Given the description of an element on the screen output the (x, y) to click on. 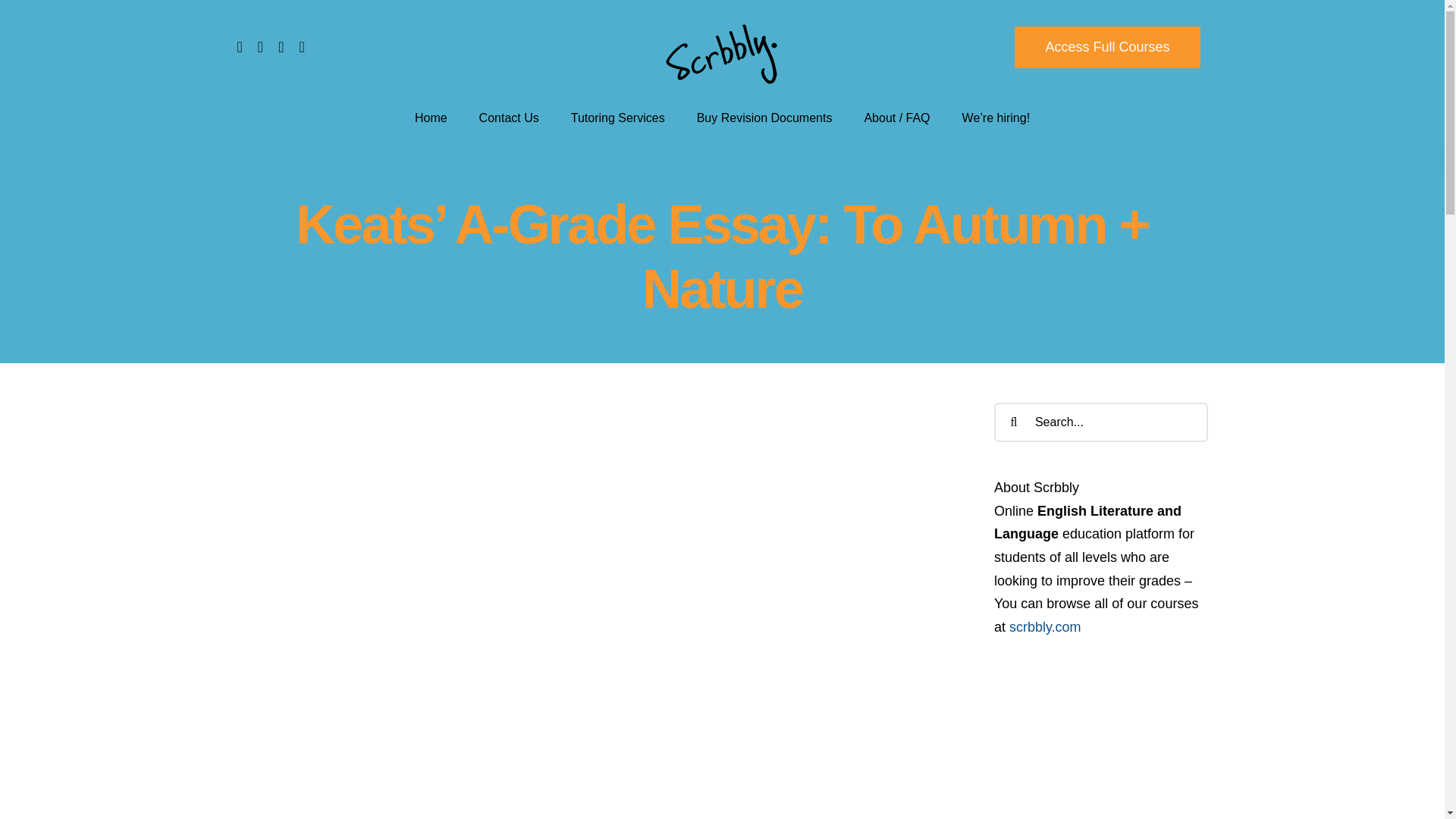
Contact Us (508, 117)
Buy Revision Documents (764, 117)
Advertisement (596, 484)
Home (430, 117)
Access Full Courses (1106, 46)
Tutoring Services (617, 117)
